Given the description of an element on the screen output the (x, y) to click on. 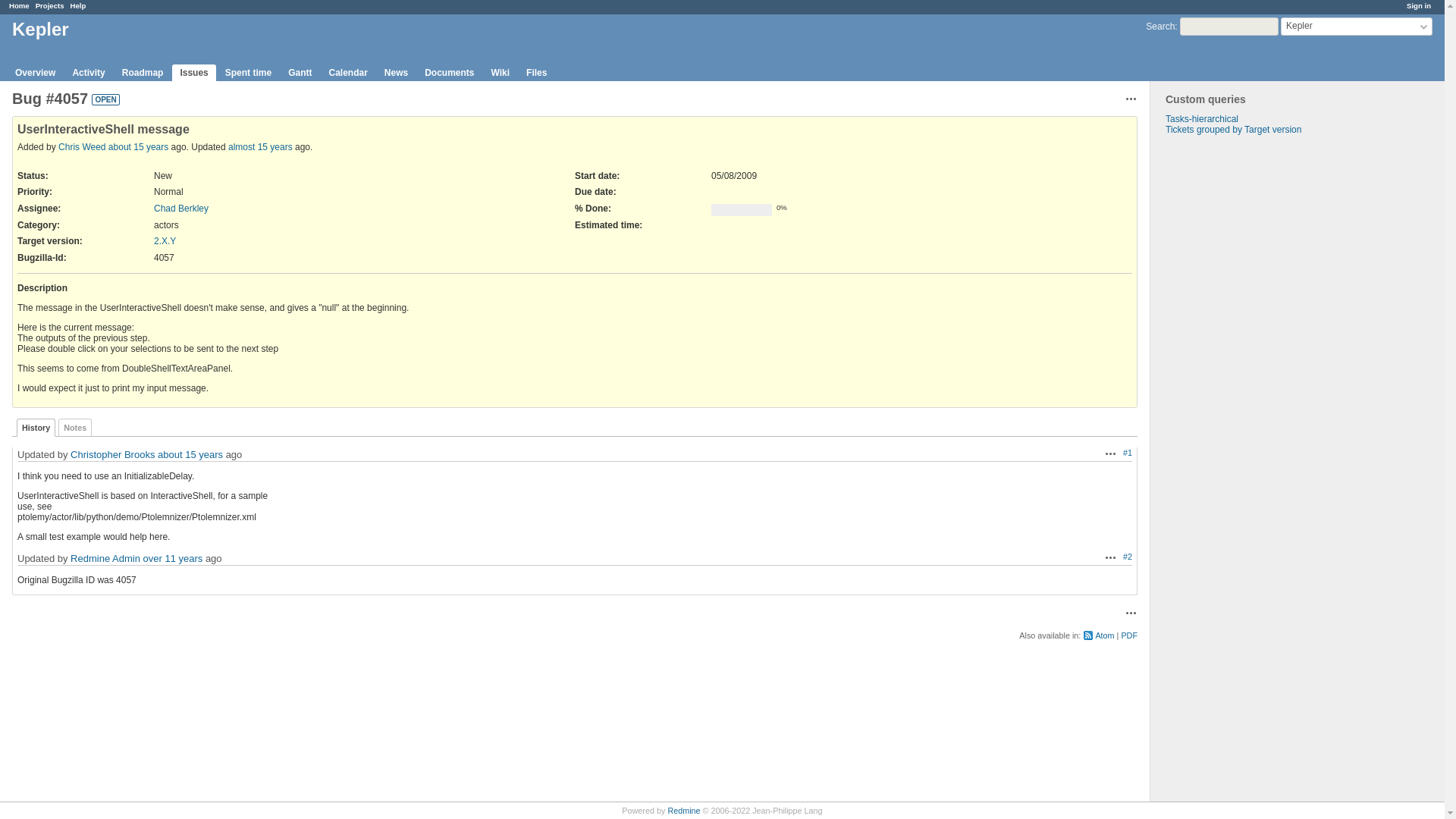
Tickets grouped by Target version (1233, 129)
Files (536, 72)
Spent time (247, 72)
Wiki (500, 72)
Notes (74, 427)
about 15 years (137, 146)
over 11 years (172, 558)
Actions (1131, 612)
Actions (1131, 98)
Calendar (347, 72)
Overview (34, 72)
Projects (49, 5)
Activity (88, 72)
Actions (1110, 453)
2.X.Y (165, 240)
